Given the description of an element on the screen output the (x, y) to click on. 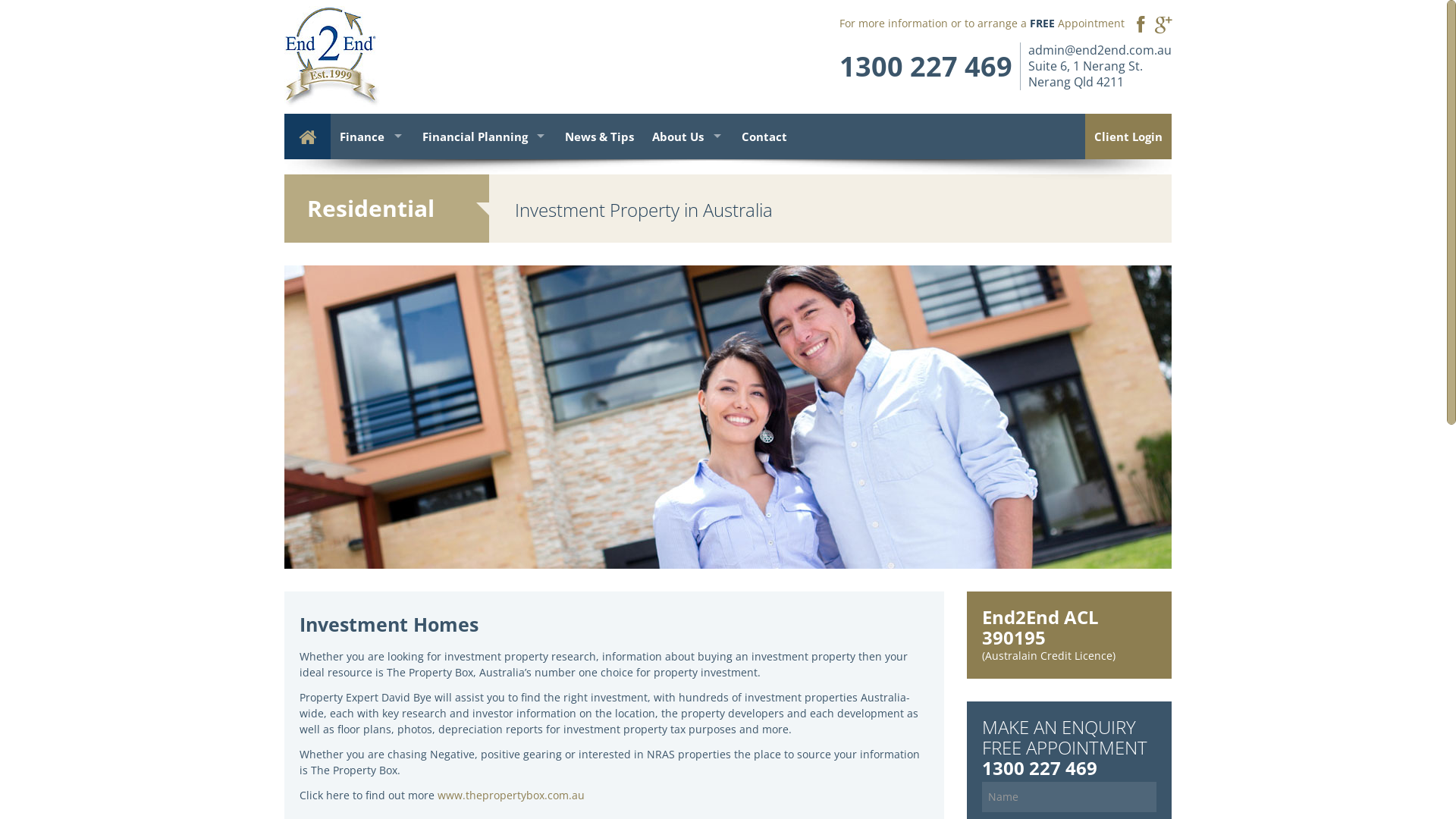
Contact Element type: text (764, 136)
admin@end2end.com.au Element type: text (1099, 49)
News & Tips Element type: text (599, 136)
Finance Element type: text (371, 136)
www.thepropertybox.com.au Element type: text (510, 794)
About Us Element type: text (687, 136)
Financial Planning Element type: text (483, 136)
Client Login Element type: text (1128, 136)
FREE Element type: text (1041, 22)
